Given the description of an element on the screen output the (x, y) to click on. 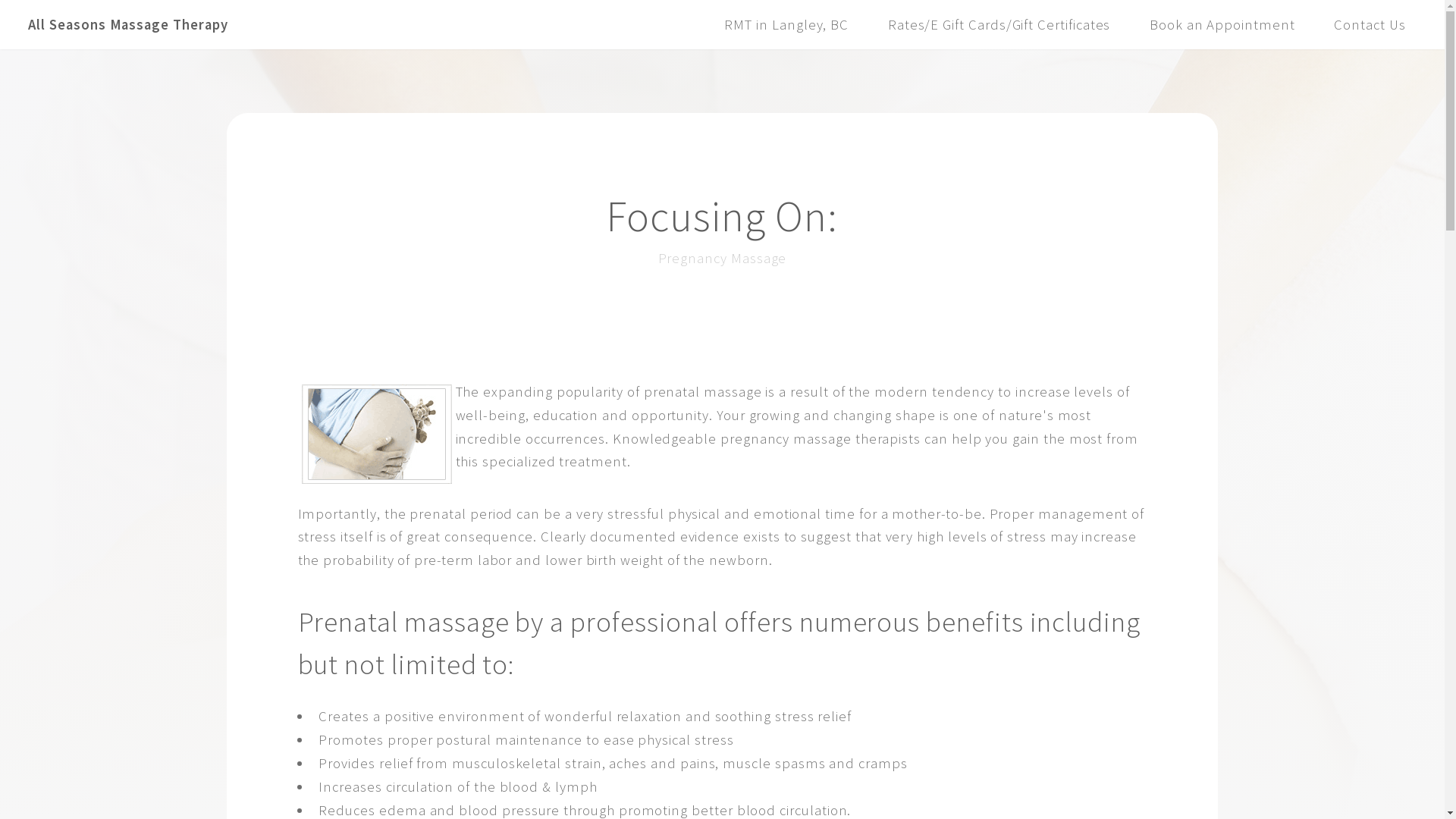
Book an Appointment Element type: text (1222, 23)
RMT in Langley, BC Element type: text (786, 23)
All Seasons Massage Therapy Element type: text (127, 24)
Contact Us Element type: text (1369, 23)
Rates/E Gift Cards/Gift Certificates Element type: text (999, 23)
